Given the description of an element on the screen output the (x, y) to click on. 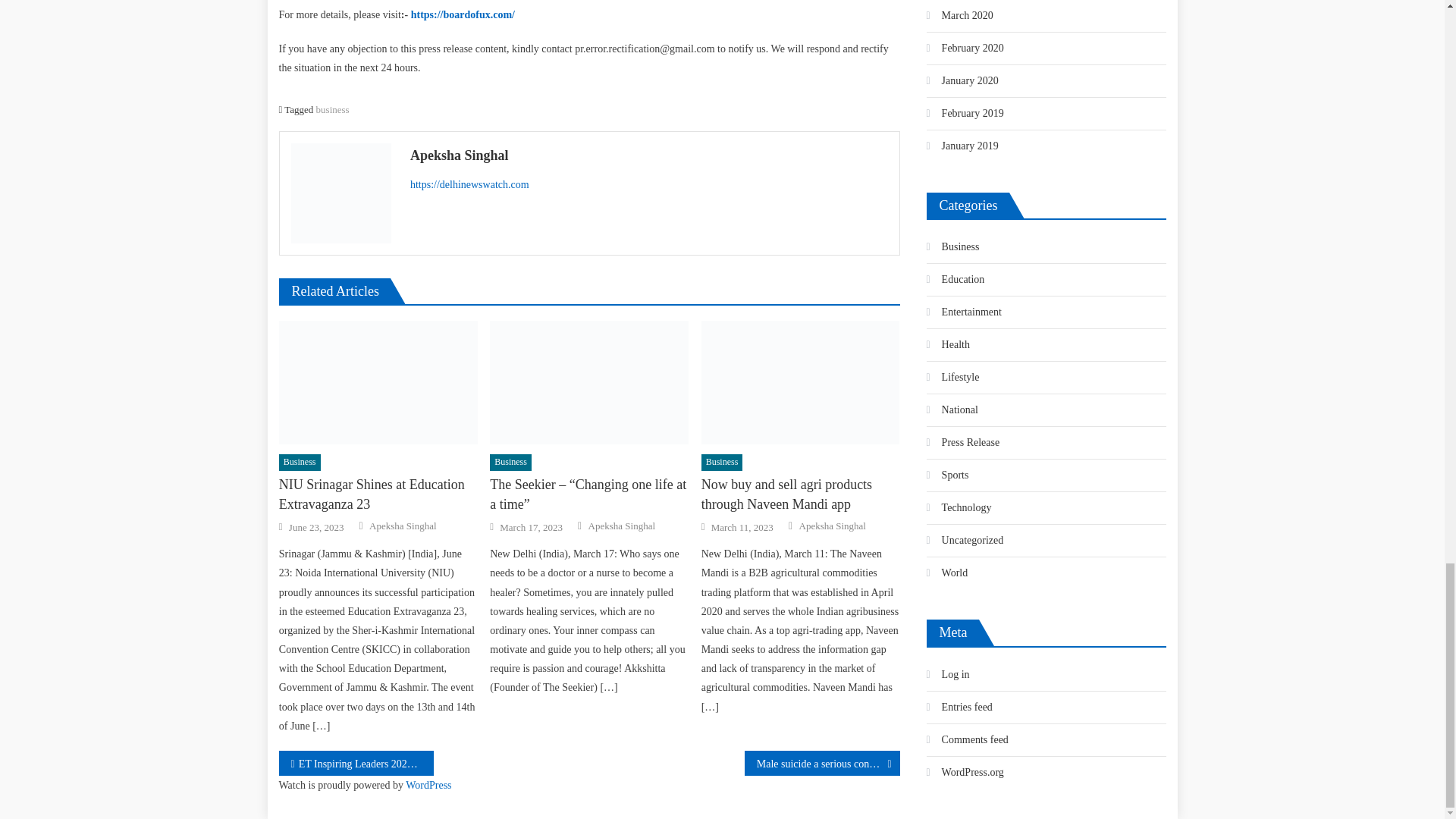
Business (299, 462)
NIU Srinagar Shines at Education Extravaganza 23 (378, 383)
Now buy and sell agri products through Naveen Mandi app (800, 383)
business (332, 109)
Apeksha Singhal (649, 155)
NIU Srinagar Shines at Education Extravaganza 23 (378, 494)
Apeksha Singhal (402, 526)
June 23, 2023 (315, 527)
